Given the description of an element on the screen output the (x, y) to click on. 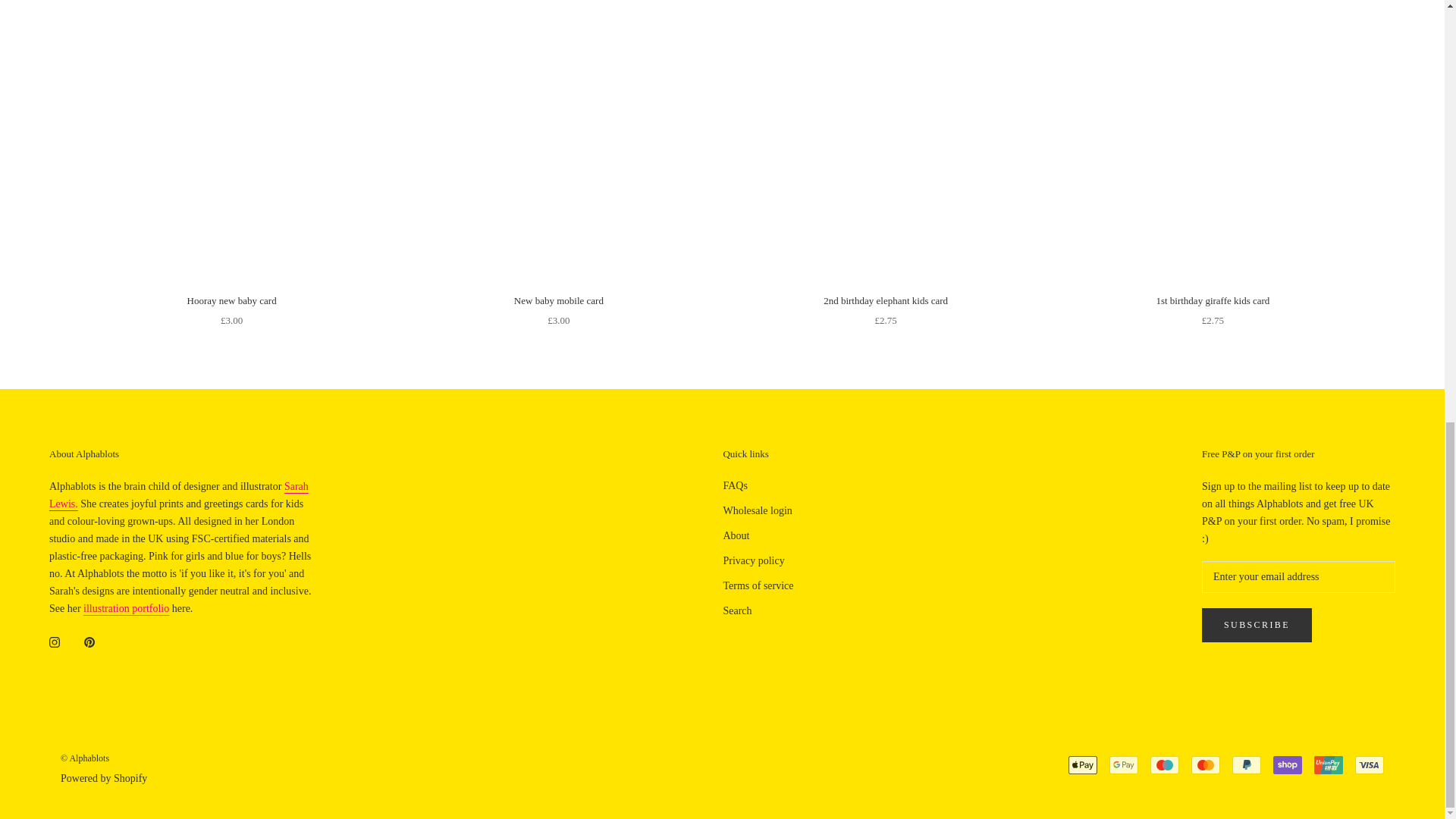
Mastercard (1205, 764)
Maestro (1164, 764)
Apple Pay (1082, 764)
Shop Pay (1286, 764)
sarah lewis (178, 494)
Union Pay (1328, 764)
PayPal (1245, 764)
Google Pay (1123, 764)
